Given the description of an element on the screen output the (x, y) to click on. 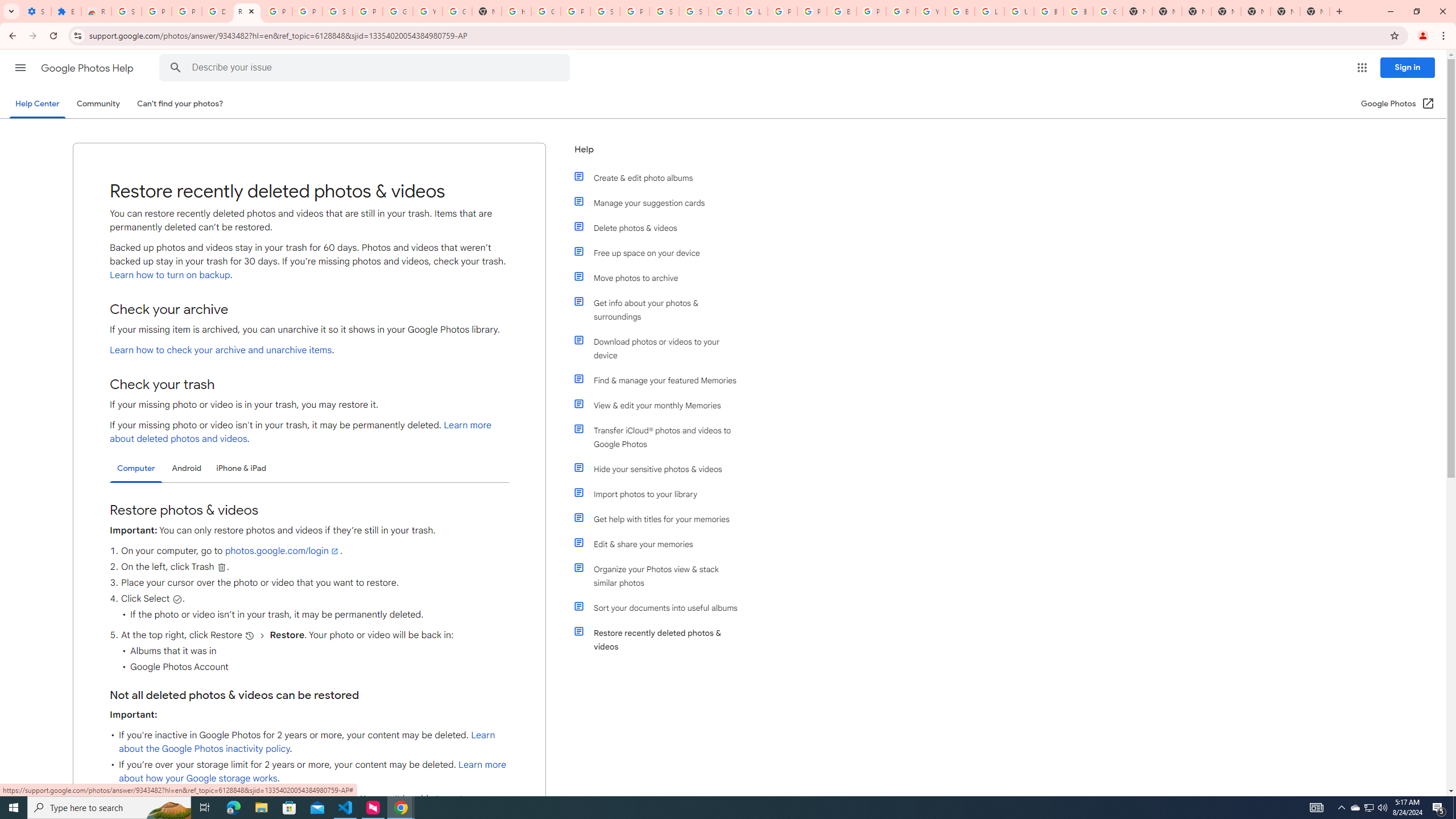
New Tab (1226, 11)
Organize your Photos view & stack similar photos (661, 575)
Edit & share your memories (661, 543)
Learn how to check your archive and unarchive items (220, 350)
Search Help Center (176, 67)
Learn more about how your Google storage works (312, 771)
Can't find your photos? (180, 103)
https://scholar.google.com/ (515, 11)
Android (186, 468)
Main menu (20, 67)
